Given the description of an element on the screen output the (x, y) to click on. 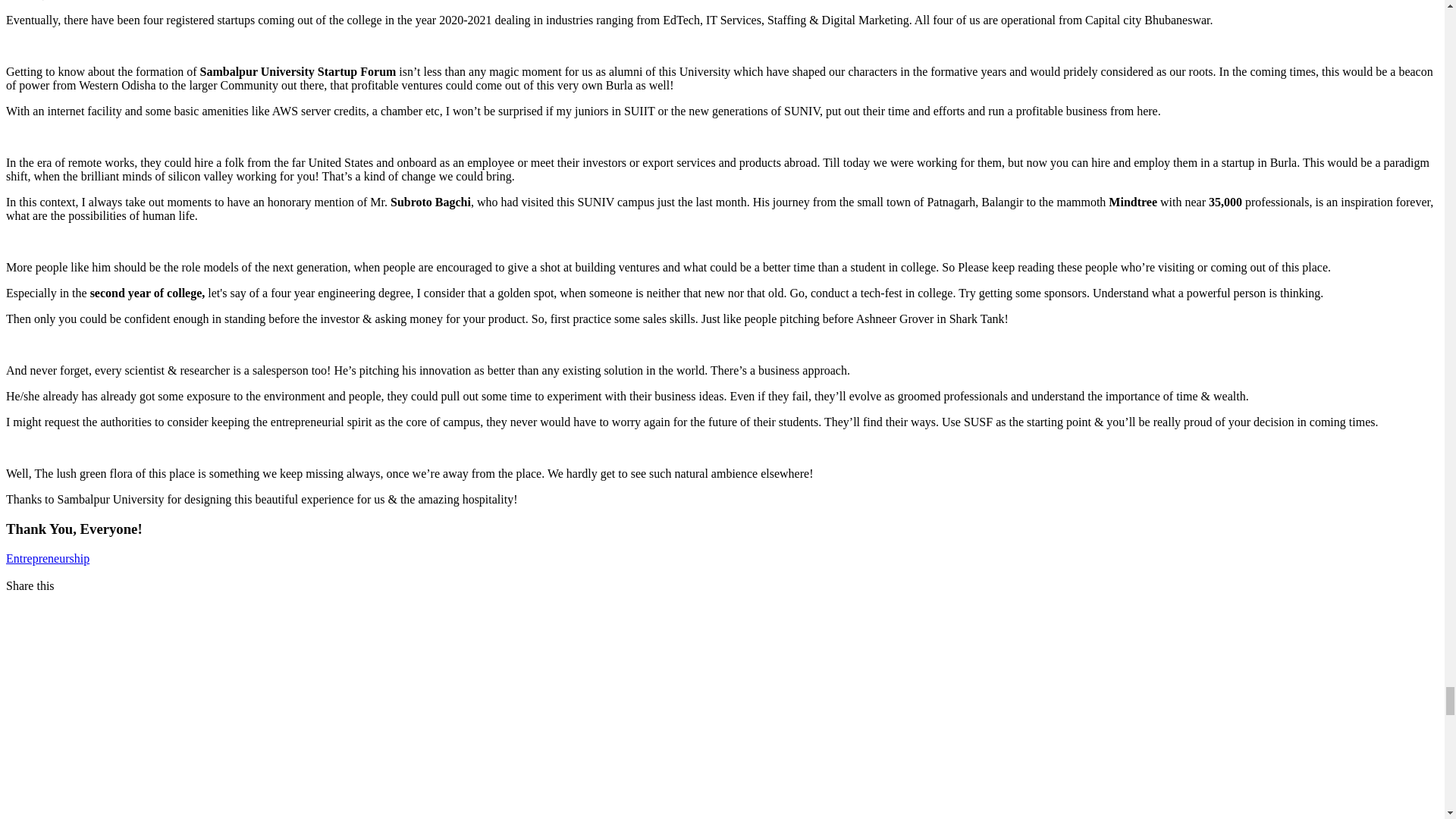
Entrepreneurship (46, 558)
